Given the description of an element on the screen output the (x, y) to click on. 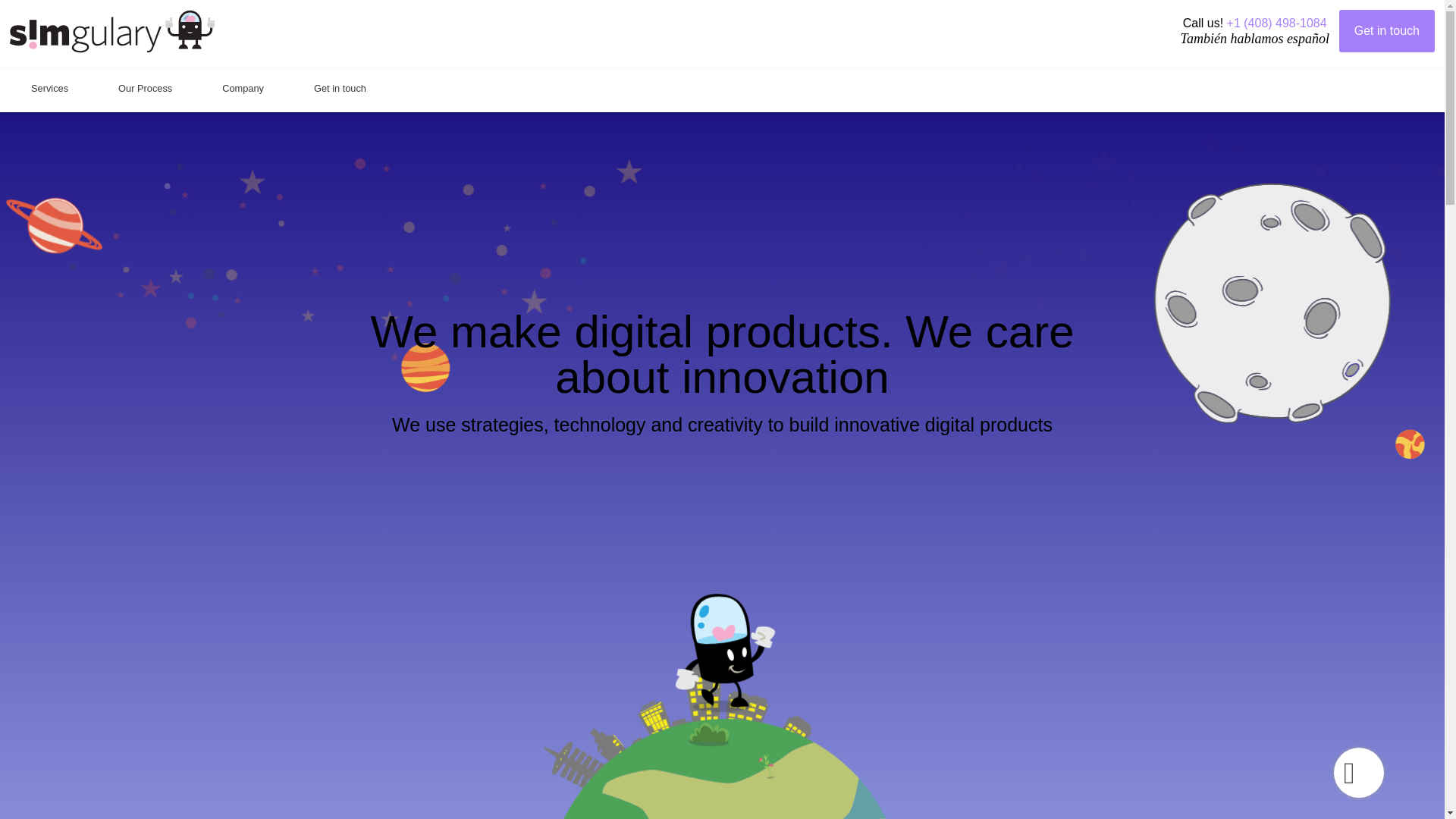
Our Process (144, 89)
Company (242, 89)
Services (49, 89)
Get in touch (1386, 30)
Get in touch (340, 89)
